Given the description of an element on the screen output the (x, y) to click on. 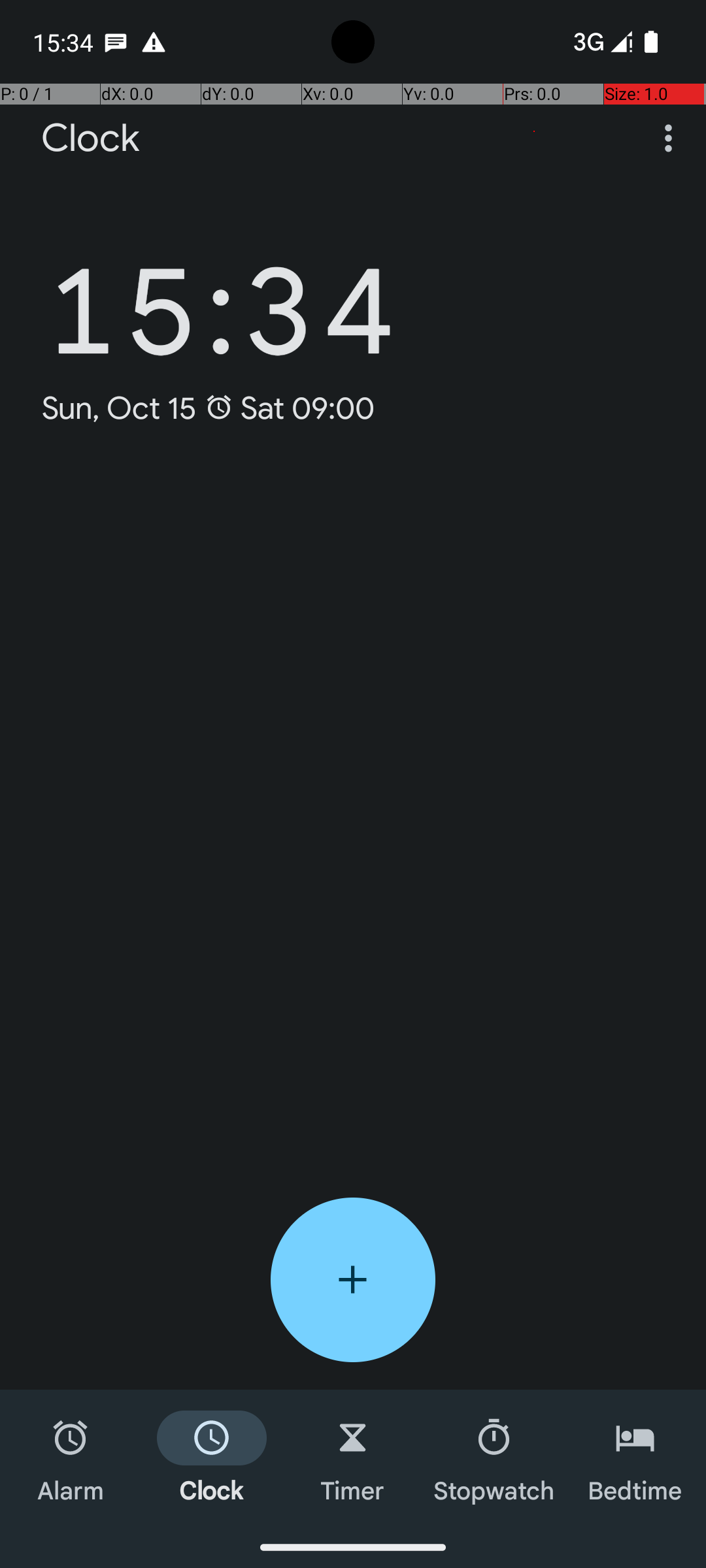
Add city Element type: android.widget.Button (352, 1279)
Sun, Oct 15 A Sat 09:00 Element type: android.widget.TextView (207, 407)
